Given the description of an element on the screen output the (x, y) to click on. 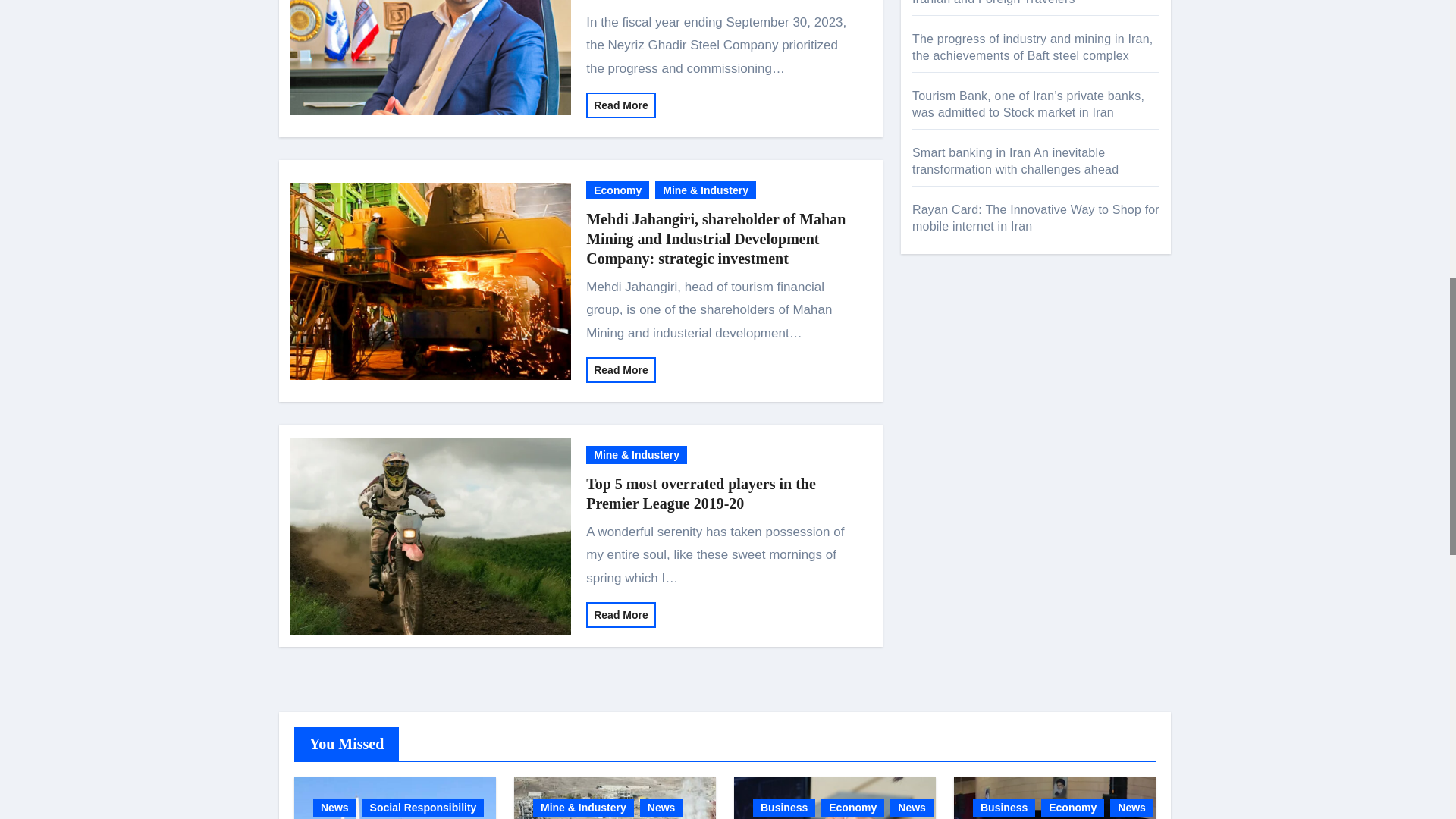
Top 5 most overrated players in the Premier League 2019-20 (700, 493)
Read More (621, 614)
Economy (617, 189)
Read More (621, 370)
Read More (621, 104)
